Given the description of an element on the screen output the (x, y) to click on. 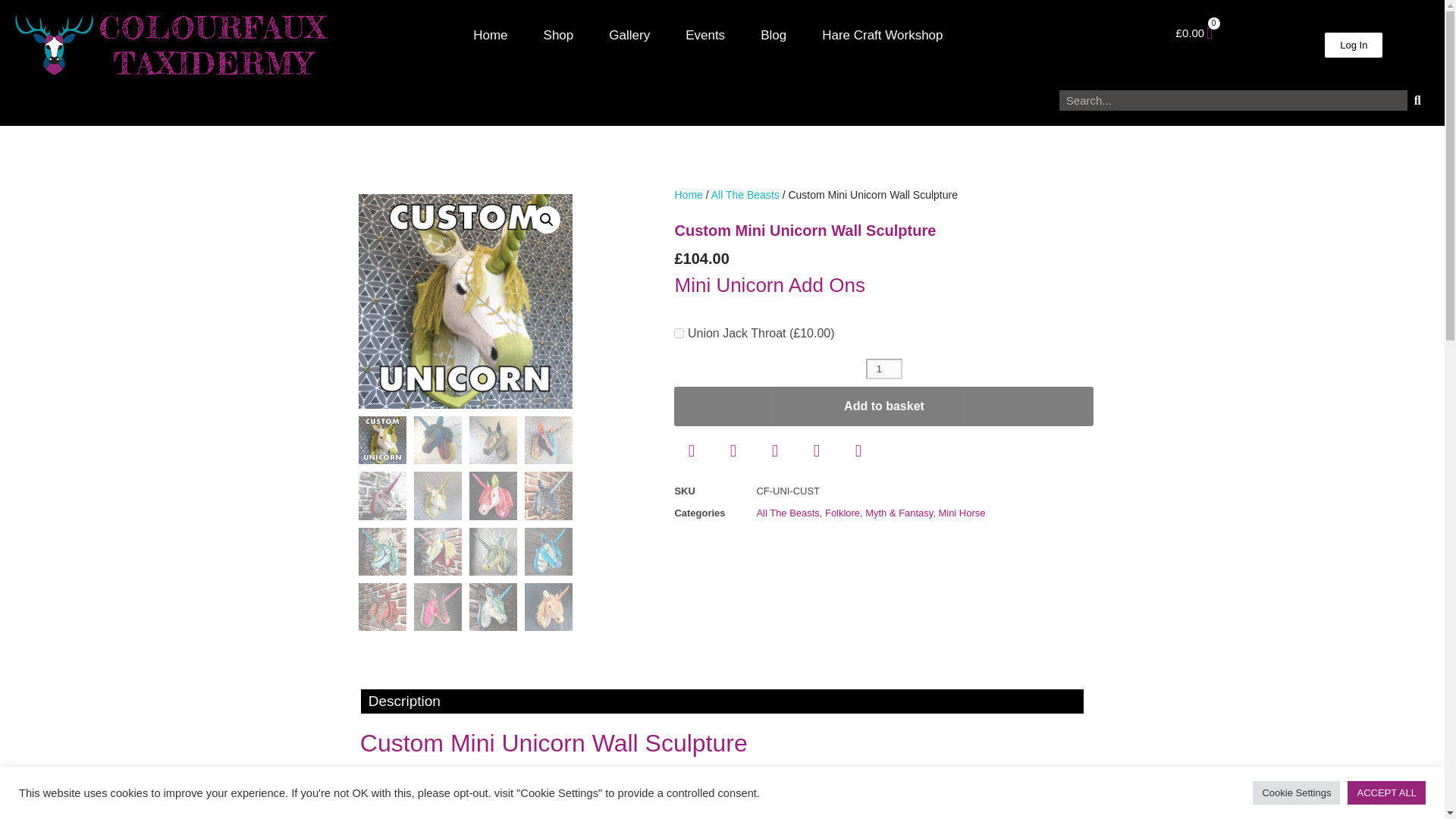
Custom Unicorn (465, 301)
Hare Craft Workshop (882, 35)
Skip to content (11, 31)
Gallery (628, 35)
1 (884, 368)
1 (679, 333)
Log In (1352, 44)
Events (705, 35)
Blog (773, 35)
Shop (558, 35)
Home (489, 35)
